Given the description of an element on the screen output the (x, y) to click on. 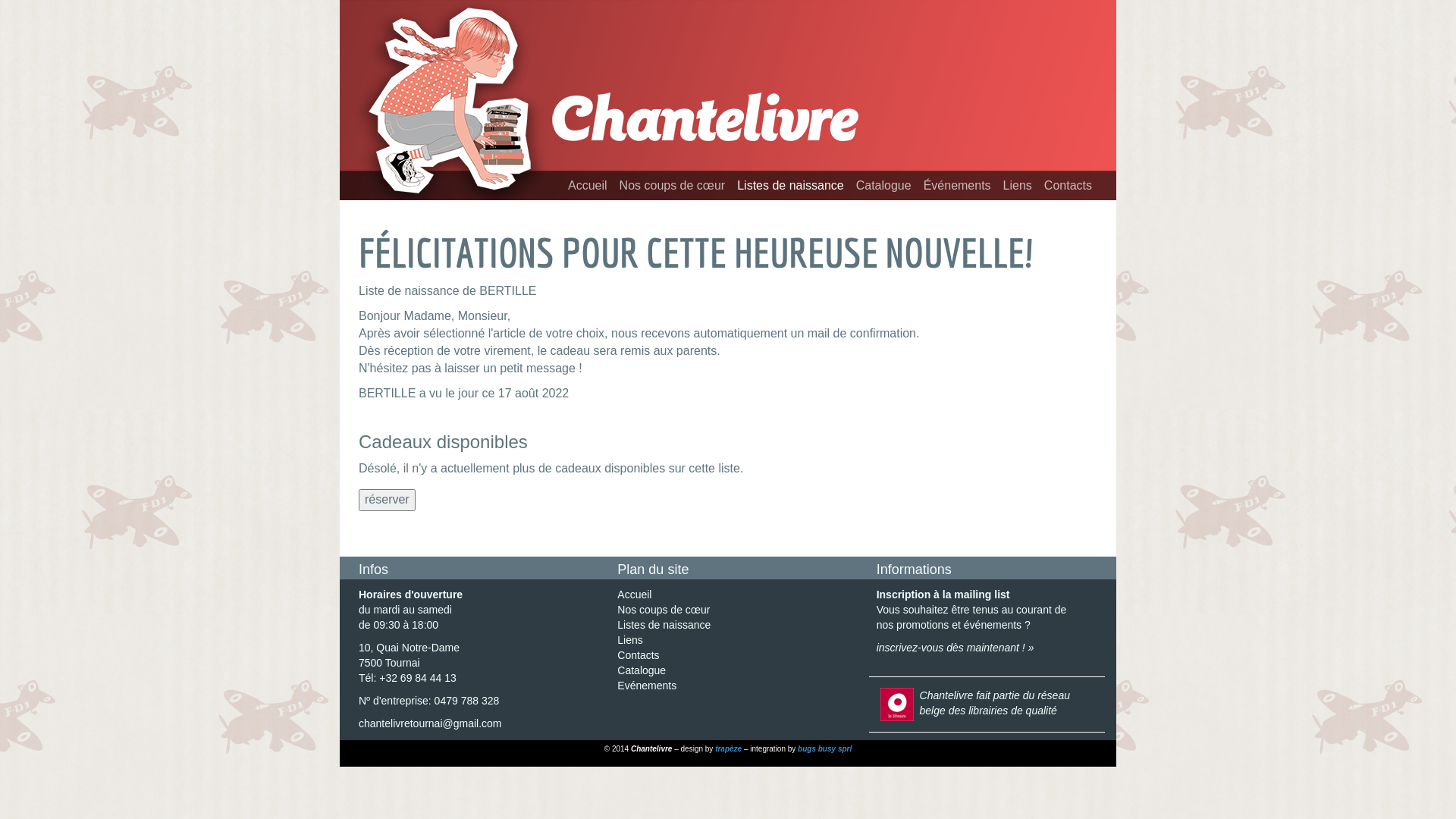
Listes de naissance Element type: text (790, 184)
Accueil Element type: text (587, 184)
Liens Element type: text (629, 639)
Liens Element type: text (1017, 184)
Catalogue Element type: text (883, 184)
Contacts Element type: text (1068, 184)
Contacts Element type: text (637, 655)
chantelivretournai@gmail.com Element type: text (430, 723)
Accueil Element type: text (634, 594)
bugs busy sprl Element type: text (824, 748)
Catalogue Element type: text (641, 670)
Listes de naissance Element type: text (663, 624)
